Given the description of an element on the screen output the (x, y) to click on. 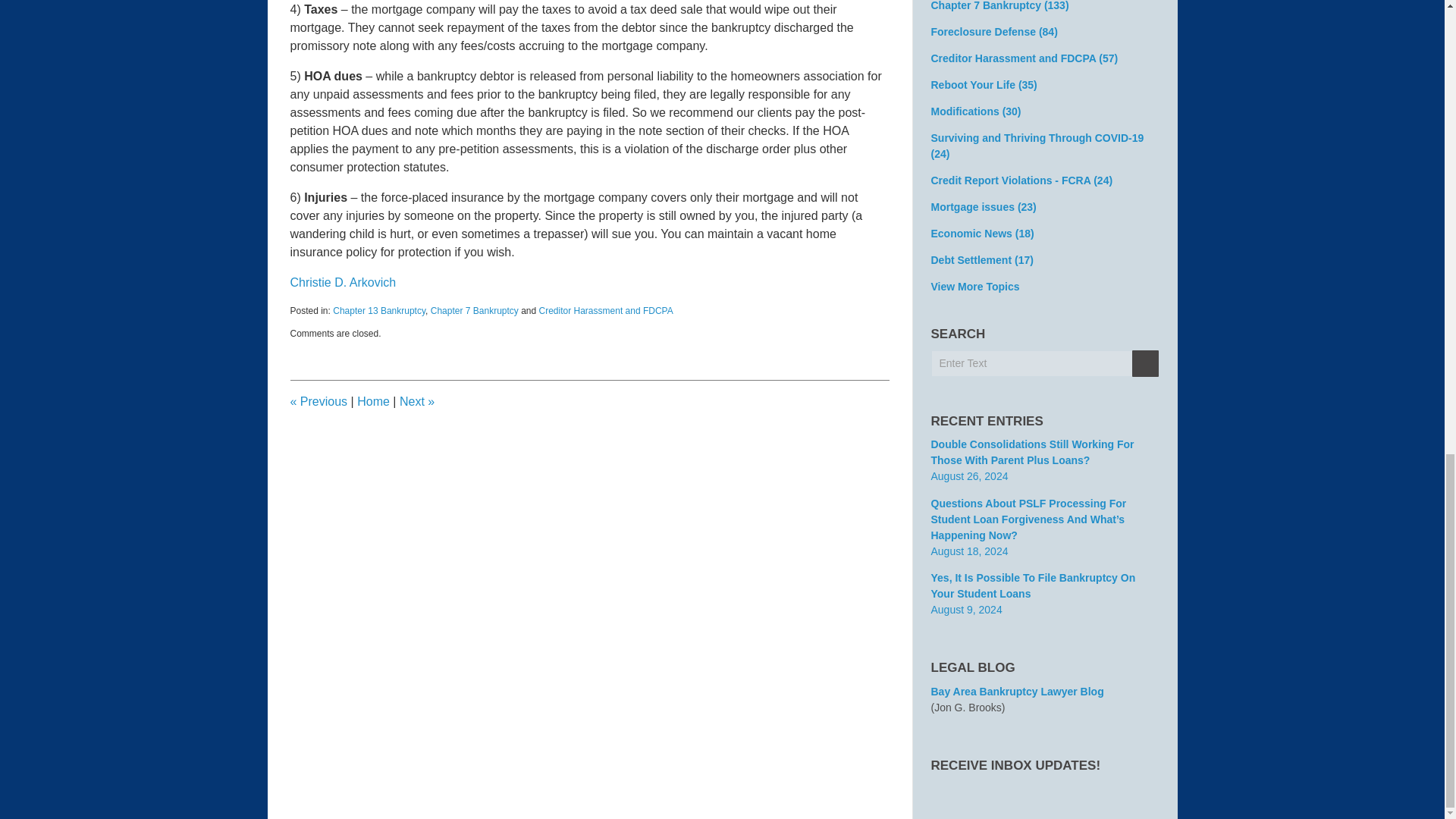
Christie D. Arkovich (342, 282)
Chapter 7 Bankruptcy (474, 310)
When is the best time to file bankruptcy? (415, 400)
Chapter 13 Bankruptcy (379, 310)
View all posts in Chapter 7 Bankruptcy (474, 310)
Home (373, 400)
View all posts in Chapter 13 Bankruptcy (379, 310)
Creditor Harassment and FDCPA (605, 310)
View all posts in Creditor Harassment and FDCPA (605, 310)
